Given the description of an element on the screen output the (x, y) to click on. 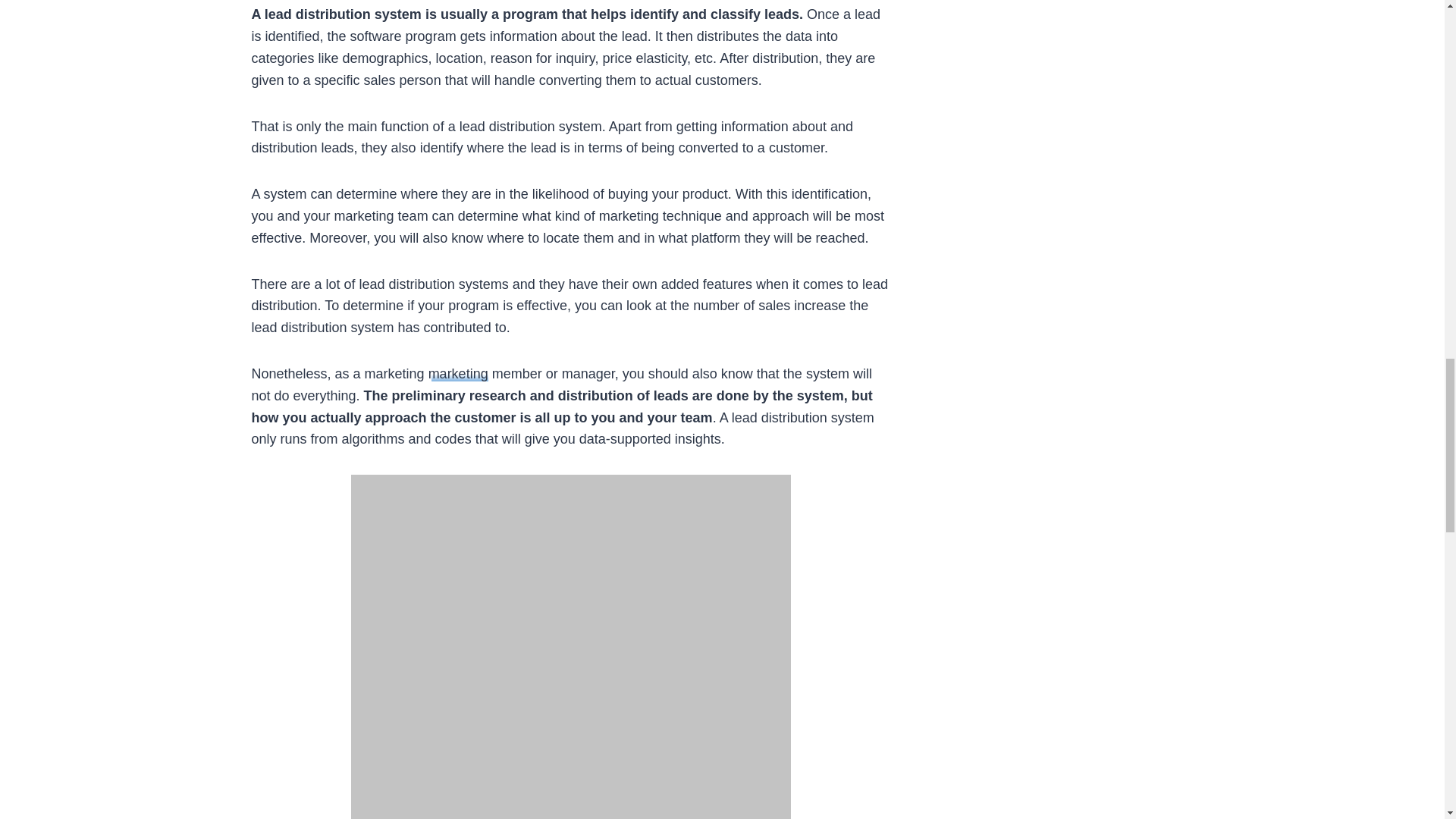
marketing (457, 373)
